Given the description of an element on the screen output the (x, y) to click on. 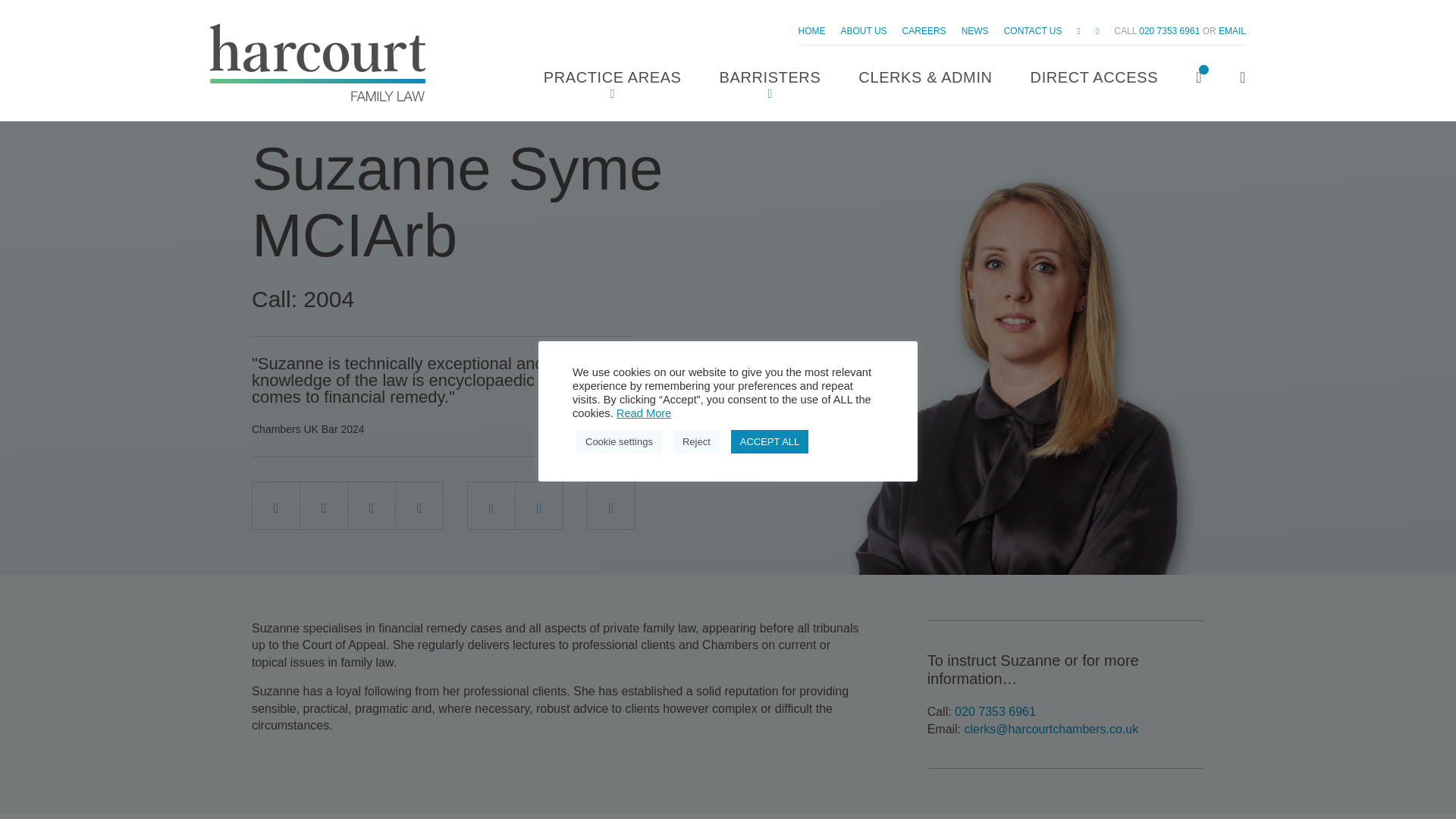
ABOUT US (863, 30)
020 7353 6961 (995, 711)
NEWS (974, 30)
EMAIL (1232, 30)
PRACTICE AREAS (612, 79)
HOME (811, 30)
CAREERS (924, 30)
020 7353 6961 (1168, 30)
CONTACT US (1033, 30)
DIRECT ACCESS (1094, 79)
BARRISTERS (770, 79)
